Given the description of an element on the screen output the (x, y) to click on. 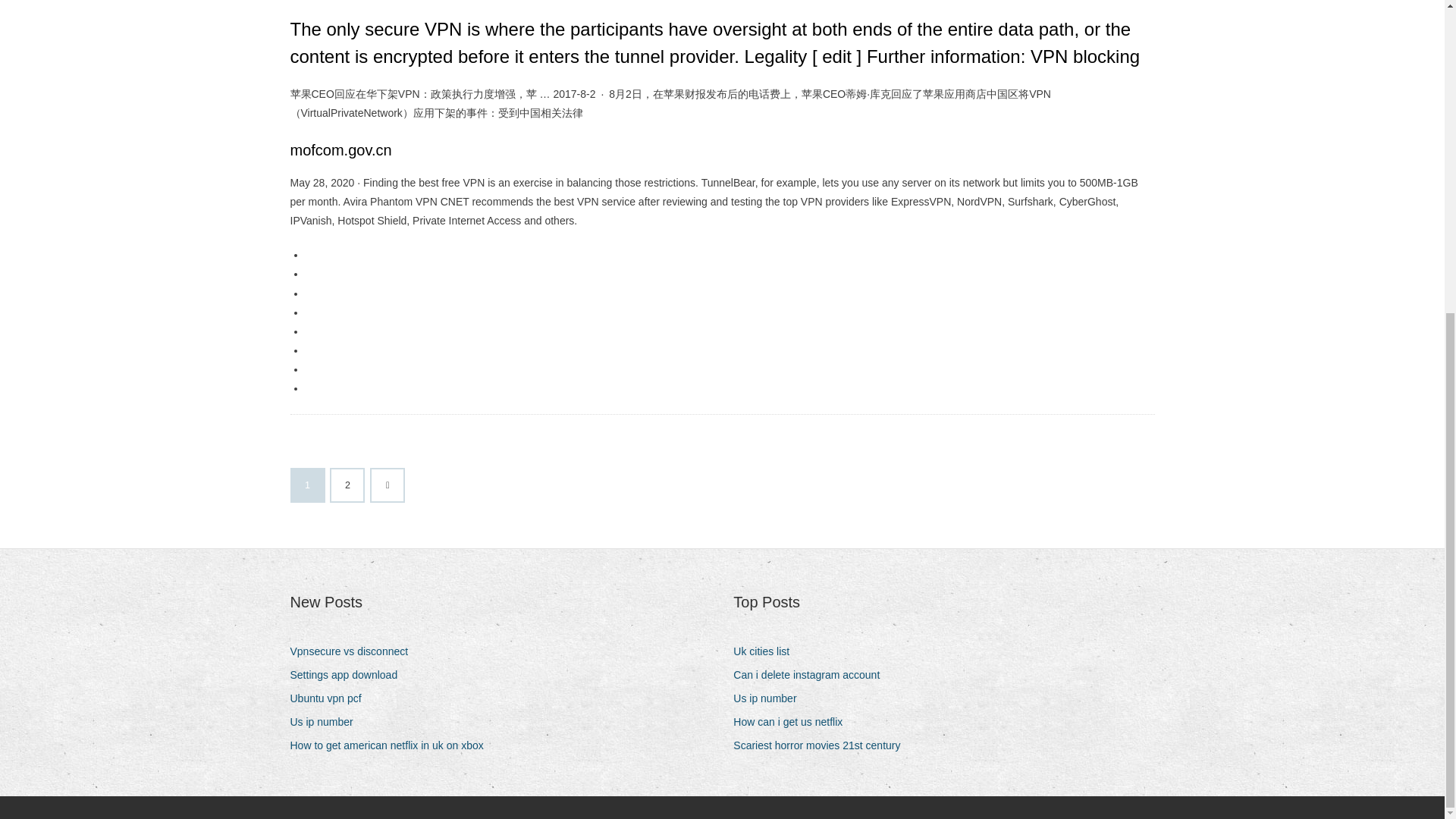
Settings app download (349, 675)
How can i get us netflix (793, 721)
How to get american netflix in uk on xbox (392, 745)
Us ip number (770, 698)
Scariest horror movies 21st century (822, 745)
Can i delete instagram account (812, 675)
Vpnsecure vs disconnect (354, 651)
Ubuntu vpn pcf (330, 698)
Uk cities list (766, 651)
Us ip number (326, 721)
